Given the description of an element on the screen output the (x, y) to click on. 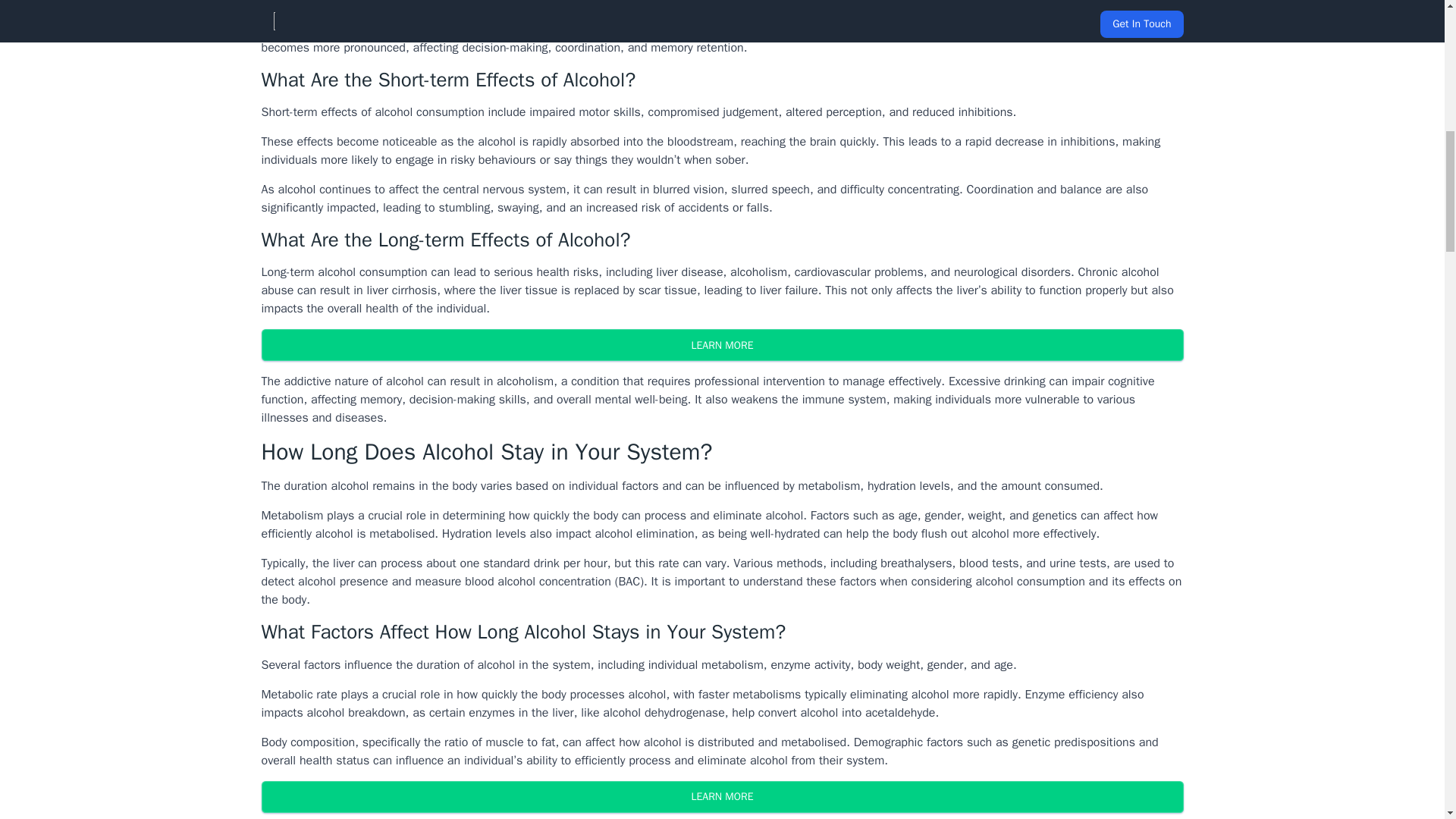
LEARN MORE (721, 345)
LEARN MORE (721, 797)
